Given the description of an element on the screen output the (x, y) to click on. 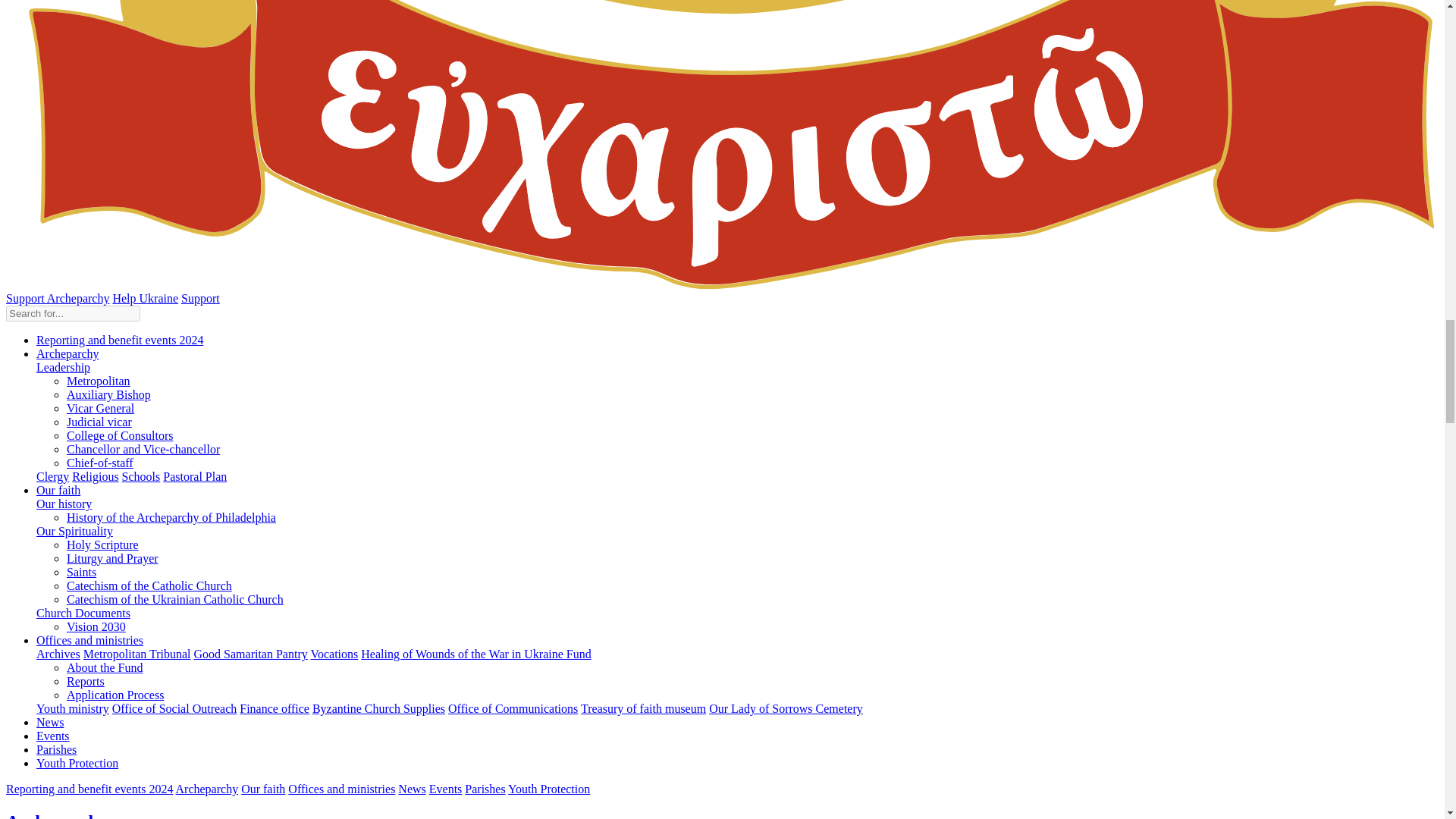
Healing of Wounds of the War in Ukraine Fund (476, 653)
Leadership (63, 367)
Metropolitan (98, 380)
Judicial vicar (99, 421)
Vicar General (99, 408)
Youth ministry (72, 707)
Vision 2030 (95, 626)
Help Ukraine (144, 297)
Support Archeparchy (57, 297)
Archeparchy (67, 353)
Holy Scripture (102, 544)
Our Spirituality (74, 530)
Catechism of the Catholic Church (148, 585)
Chief-of-staff (99, 462)
Reports (85, 680)
